Given the description of an element on the screen output the (x, y) to click on. 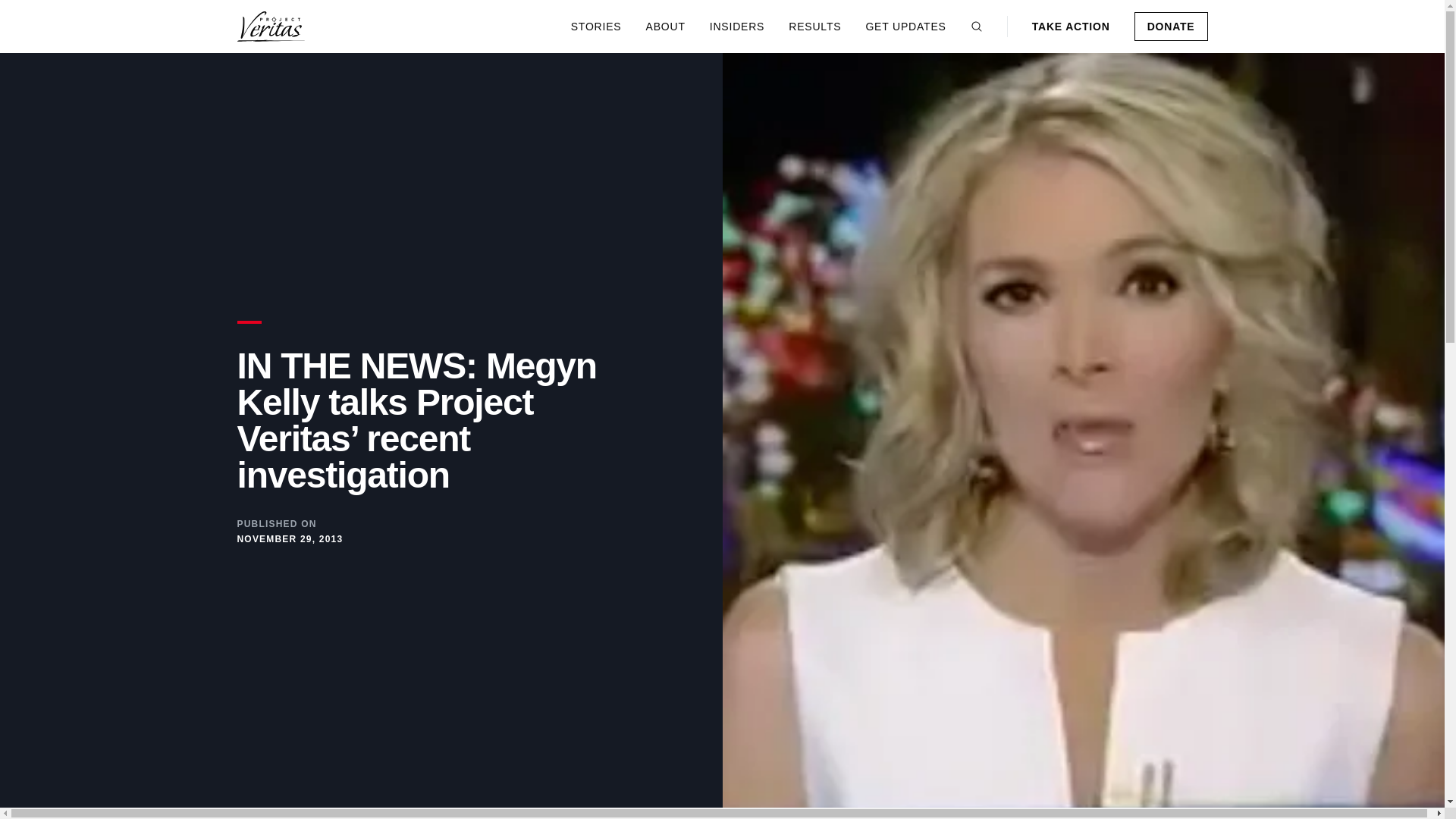
ABOUT (665, 26)
STORIES (595, 26)
RESULTS (815, 26)
TAKE ACTION (1070, 26)
Search (976, 26)
INSIDERS (737, 26)
GET UPDATES (904, 26)
Project Veritas (270, 26)
DONATE (1171, 26)
